Given the description of an element on the screen output the (x, y) to click on. 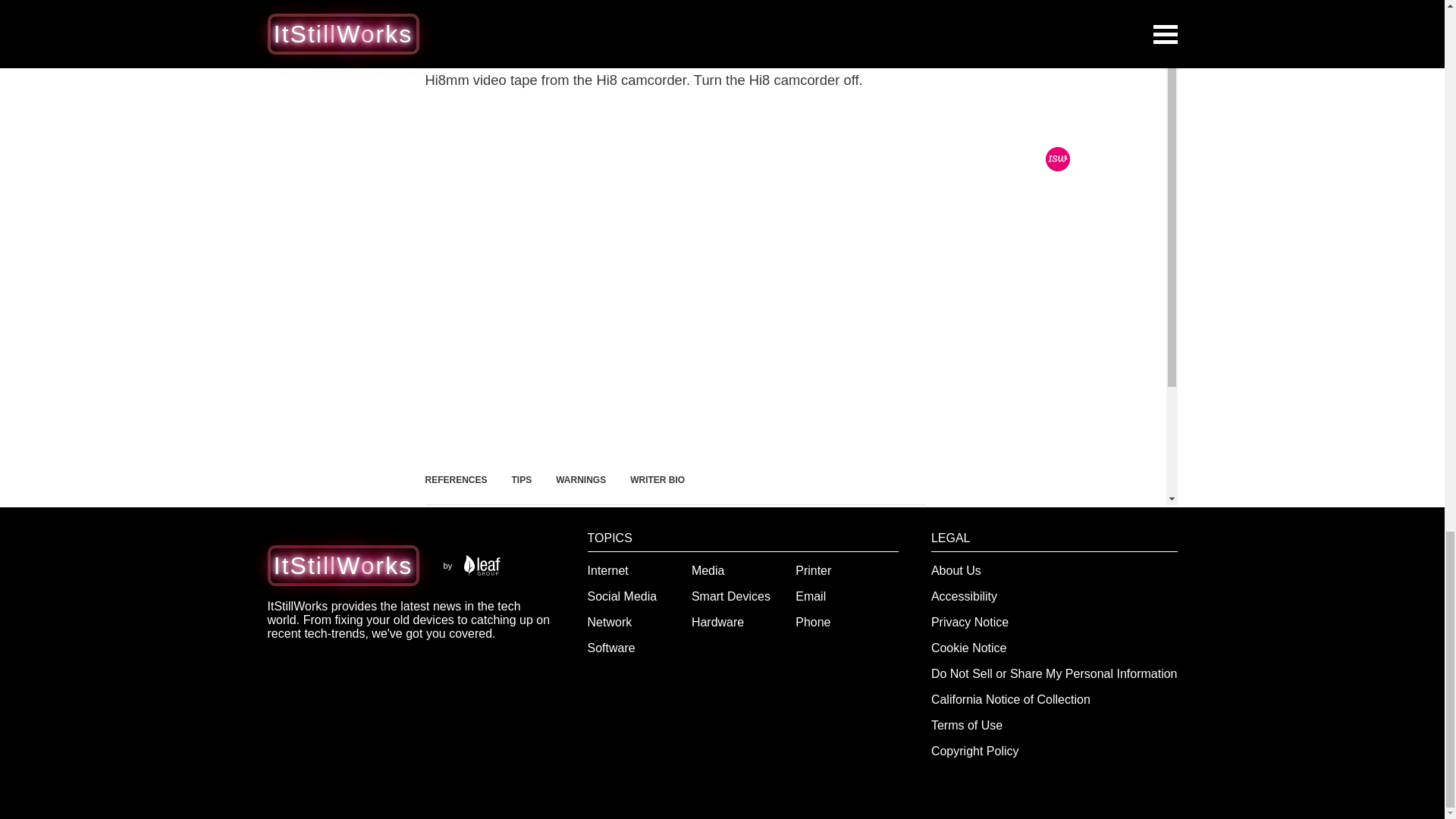
Network (609, 621)
Email (809, 595)
Internet (608, 570)
Software (611, 647)
Phone (811, 621)
Smart Devices (730, 595)
About Us (956, 570)
Media (708, 570)
California Notice of Collection (1010, 698)
Terms of Use (967, 725)
Copyright Policy (975, 750)
Hardware (717, 621)
Social Media (623, 595)
Accessibility (964, 595)
Printer (812, 570)
